Given the description of an element on the screen output the (x, y) to click on. 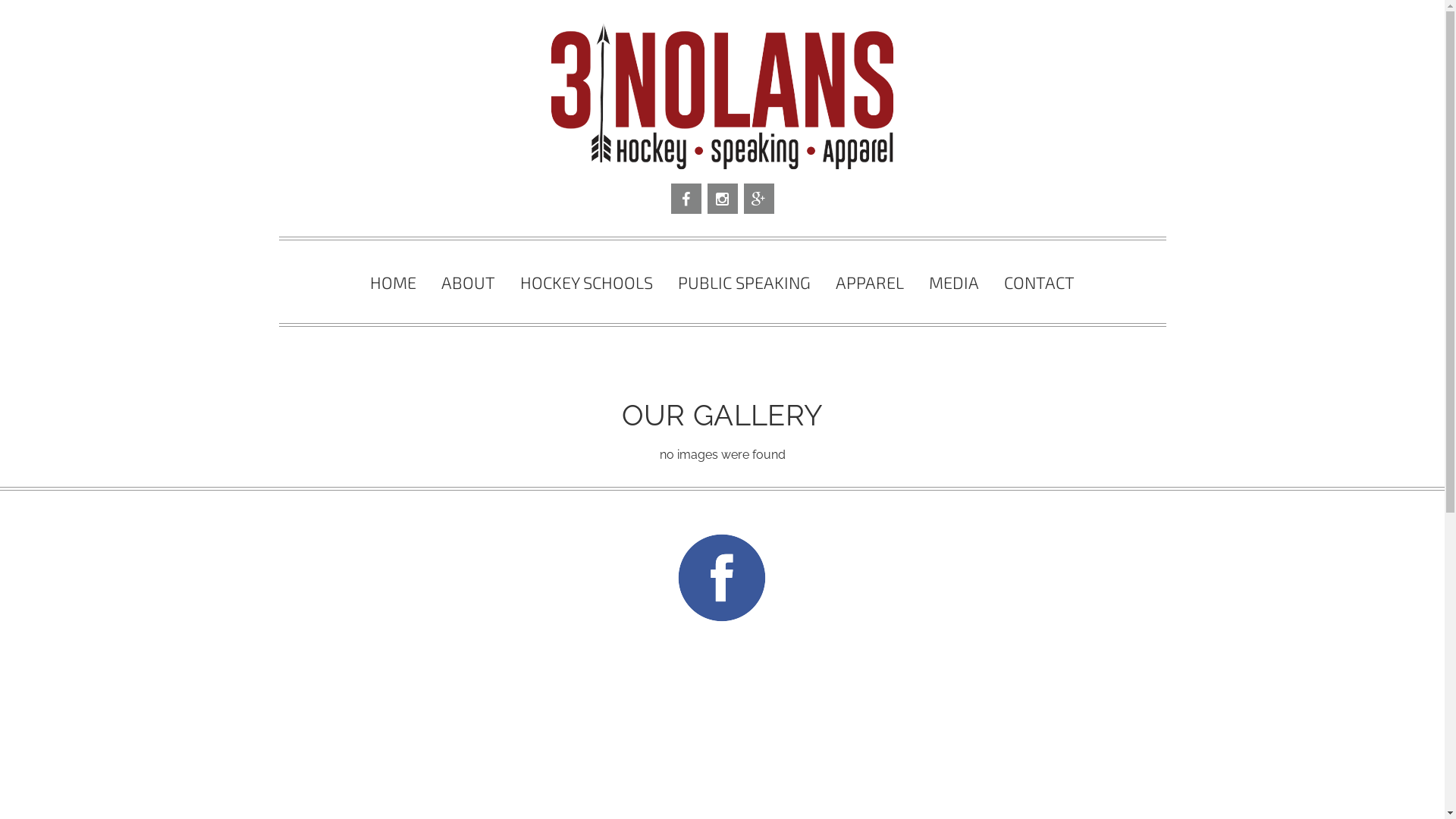
APPAREL Element type: text (869, 281)
HOME Element type: text (393, 281)
MEDIA Element type: text (953, 281)
PUBLIC SPEAKING Element type: text (744, 281)
HOCKEY SCHOOLS Element type: text (586, 281)
ABOUT Element type: text (468, 281)
CONTACT Element type: text (1039, 281)
